Given the description of an element on the screen output the (x, y) to click on. 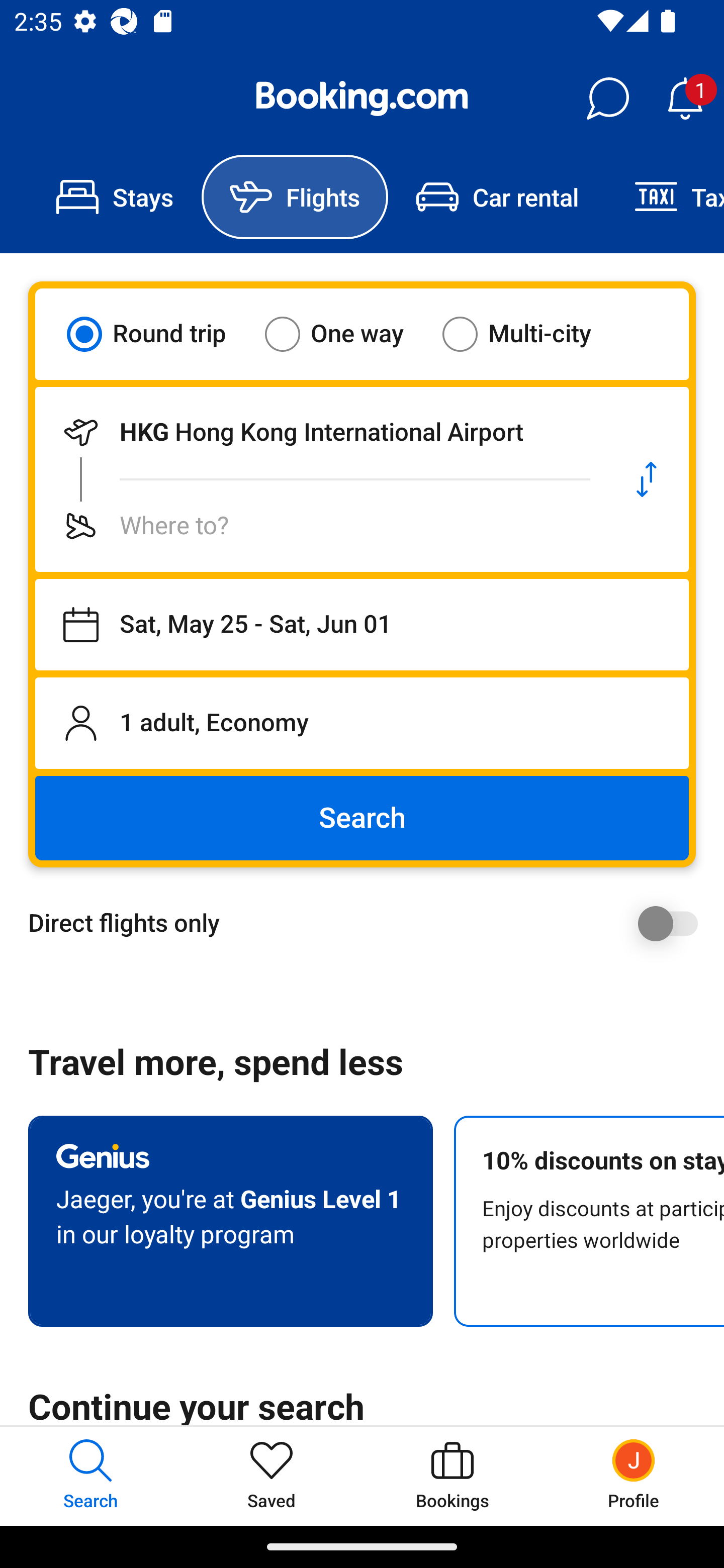
Messages (607, 98)
Notifications (685, 98)
Stays (114, 197)
Flights (294, 197)
Car rental (497, 197)
Taxi (665, 197)
One way (346, 333)
Multi-city (528, 333)
Departing from HKG Hong Kong International Airport (319, 432)
Swap departure location and destination (646, 479)
Flying to  (319, 525)
Departing on Sat, May 25, returning on Sat, Jun 01 (361, 624)
1 adult, Economy (361, 722)
Search (361, 818)
Direct flights only (369, 923)
Saved (271, 1475)
Bookings (452, 1475)
Profile (633, 1475)
